Given the description of an element on the screen output the (x, y) to click on. 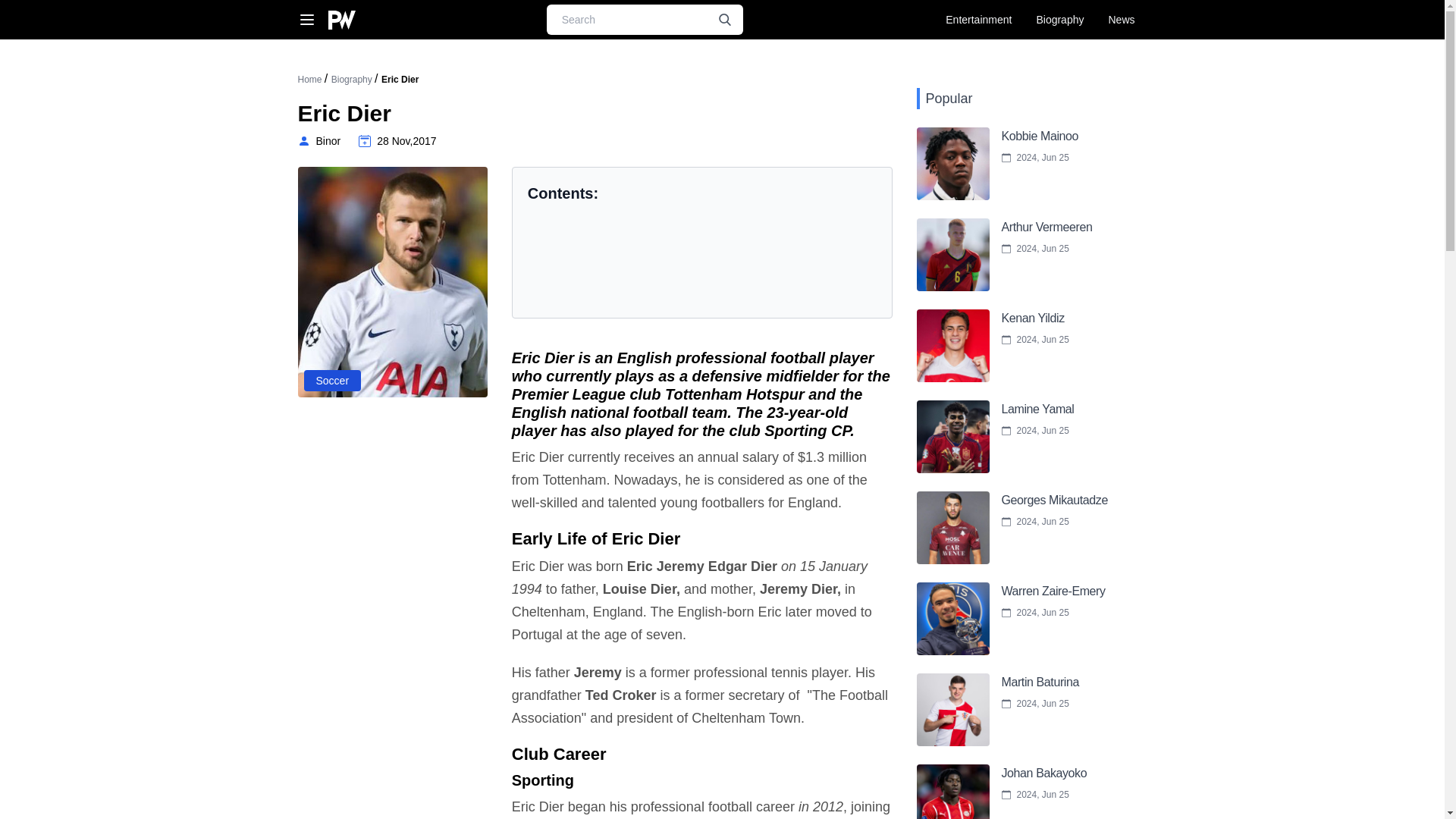
Lamine Yamal (1010, 436)
Kenan Yildiz (1010, 345)
homepage (341, 19)
entertainment (978, 19)
Biography (352, 79)
home (310, 79)
Kobbie Mainoo (1010, 163)
Soccer (331, 380)
Home (310, 79)
Arthur Vermeeren (1010, 254)
